Given the description of an element on the screen output the (x, y) to click on. 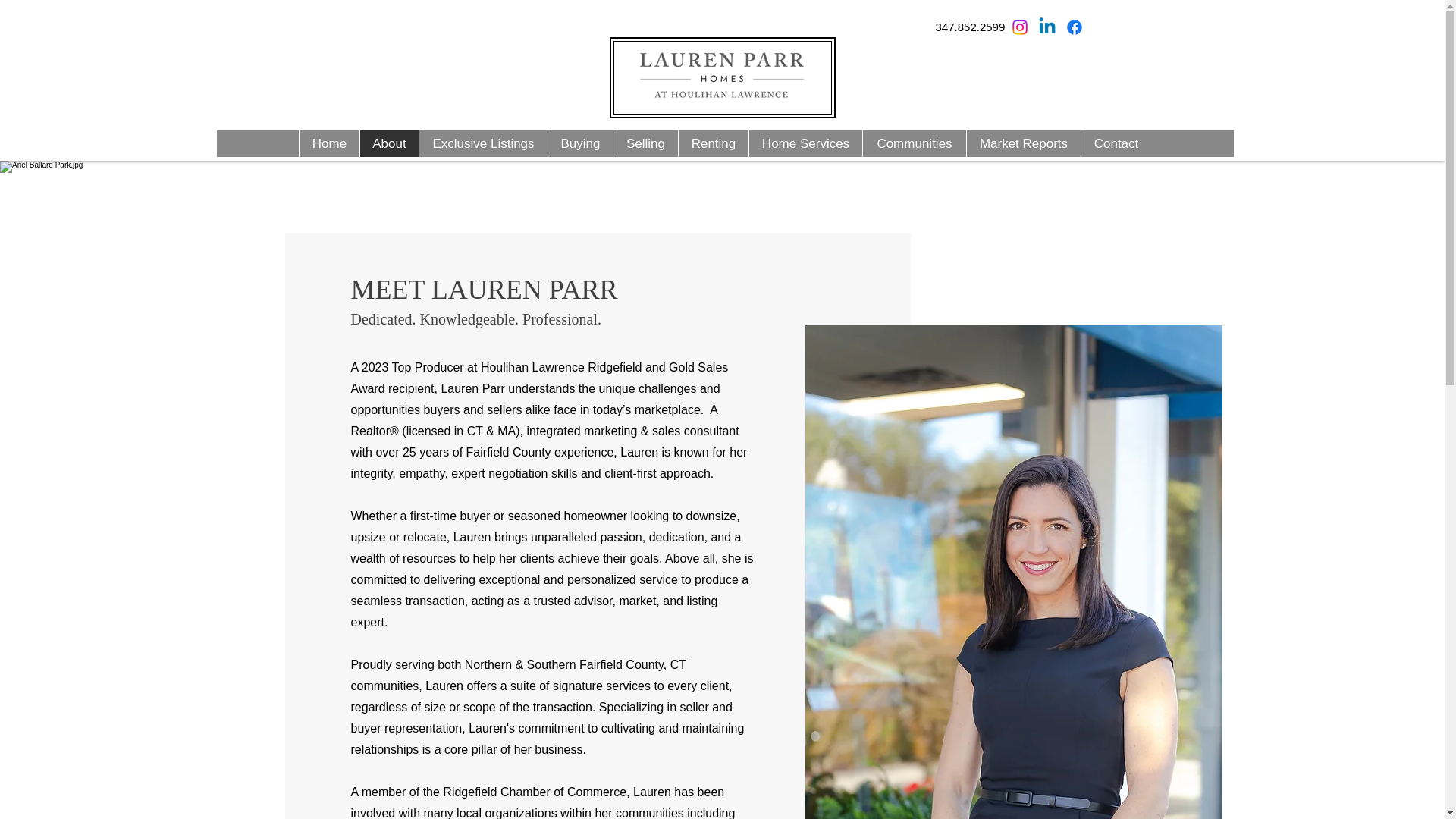
Exclusive Listings (483, 143)
Communities (913, 143)
Contact (1115, 143)
About (389, 143)
Selling (645, 143)
Home (328, 143)
Market Reports (1023, 143)
Renting (713, 143)
Buying (579, 143)
Home Services (804, 143)
